Given the description of an element on the screen output the (x, y) to click on. 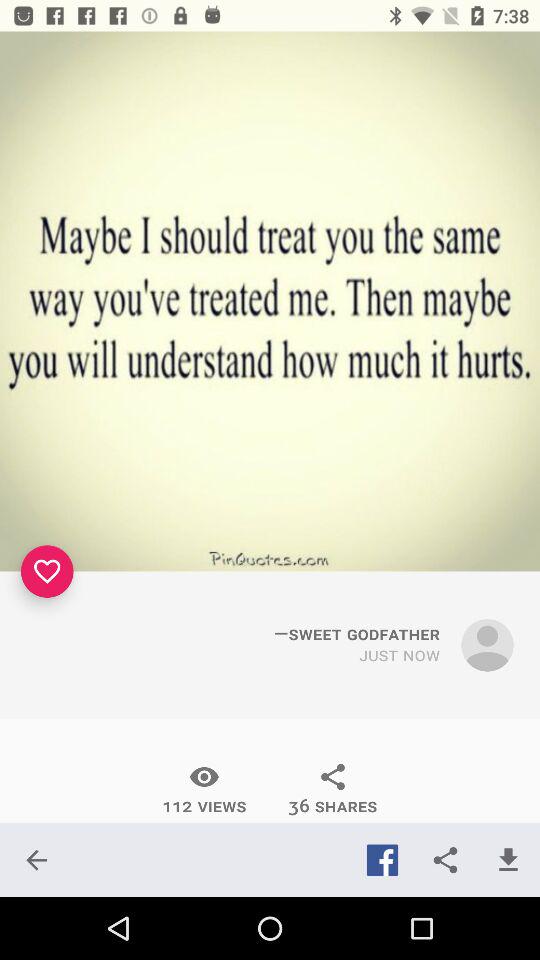
like post (47, 571)
